Given the description of an element on the screen output the (x, y) to click on. 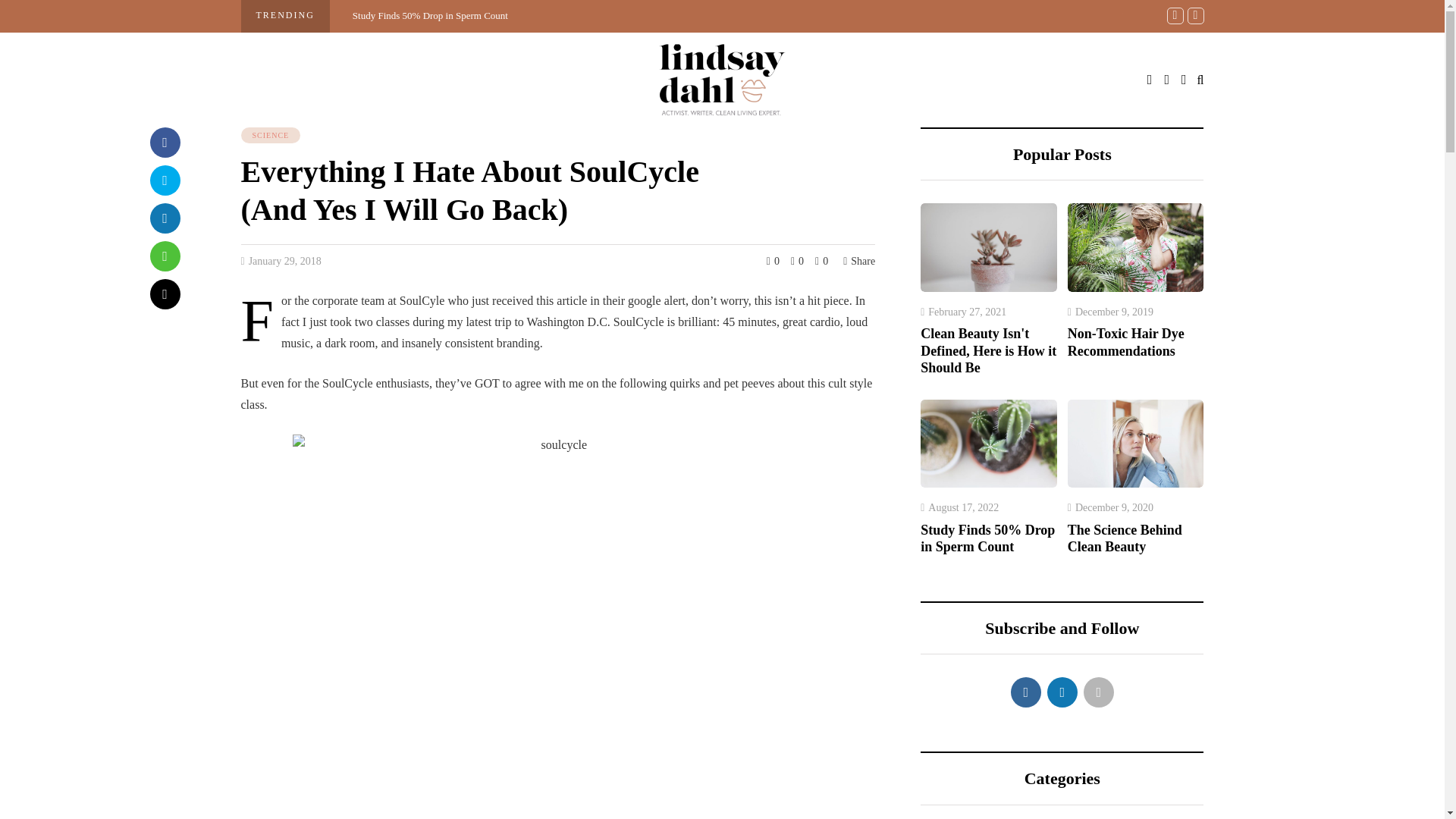
Share with Facebook (164, 142)
SCIENCE (271, 135)
Share with LinkedIn (164, 218)
Share by Email (164, 294)
Share to WhatsApp (164, 255)
Tweet this (164, 180)
